Given the description of an element on the screen output the (x, y) to click on. 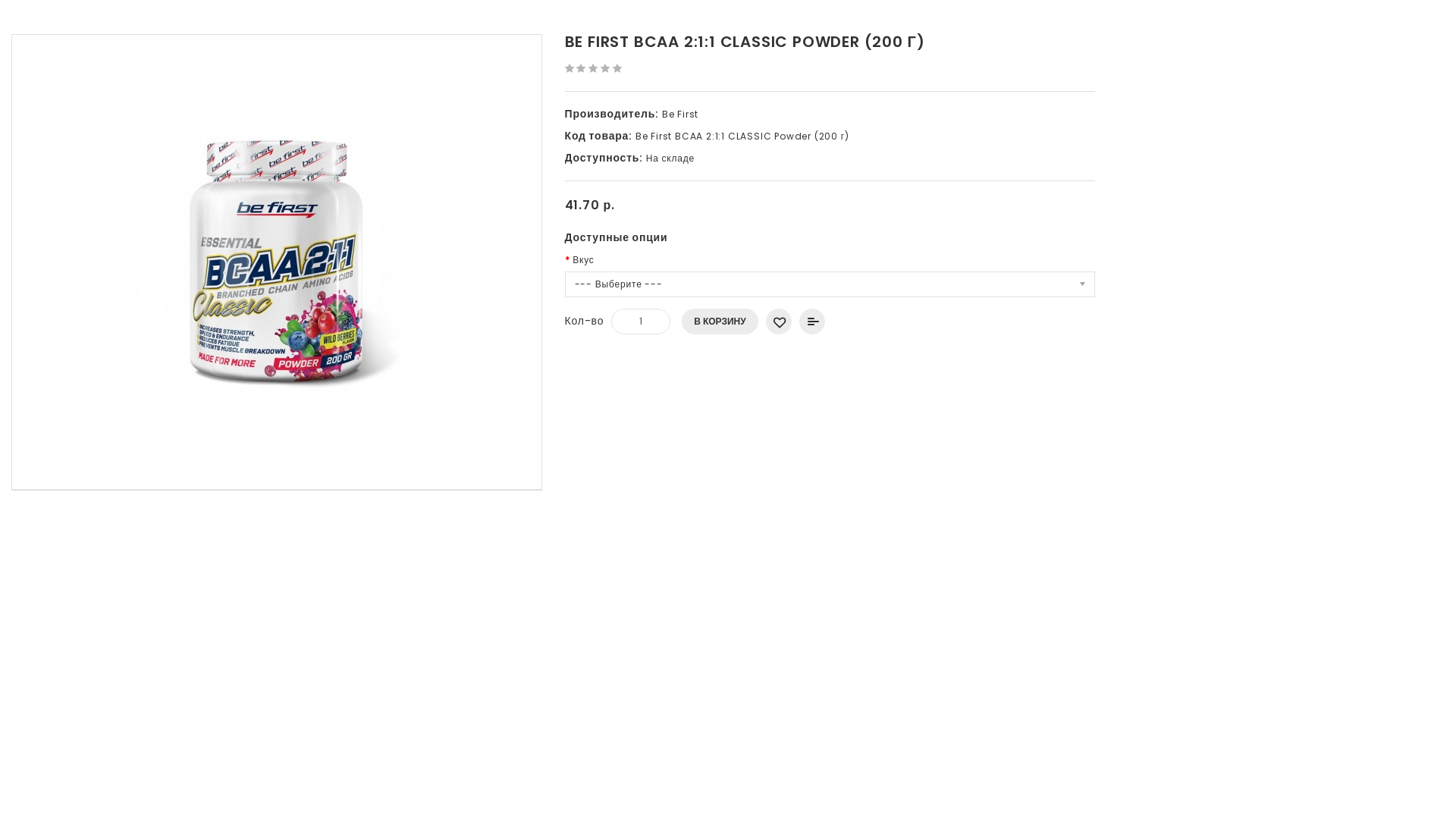
Be First Element type: text (680, 113)
